Given the description of an element on the screen output the (x, y) to click on. 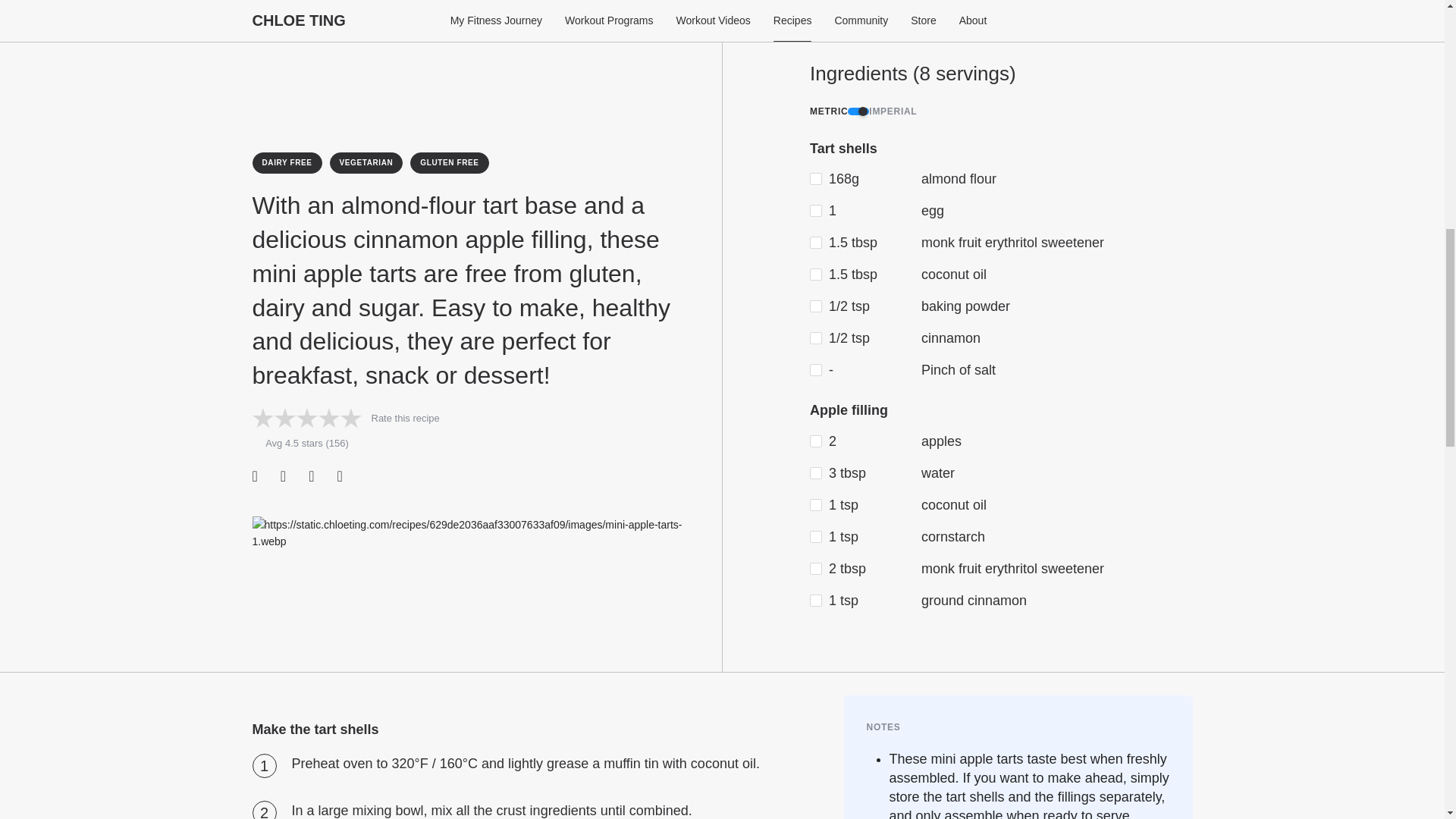
VEGETARIAN (366, 162)
GLUTEN FREE (448, 162)
DAIRY FREE (286, 162)
